Given the description of an element on the screen output the (x, y) to click on. 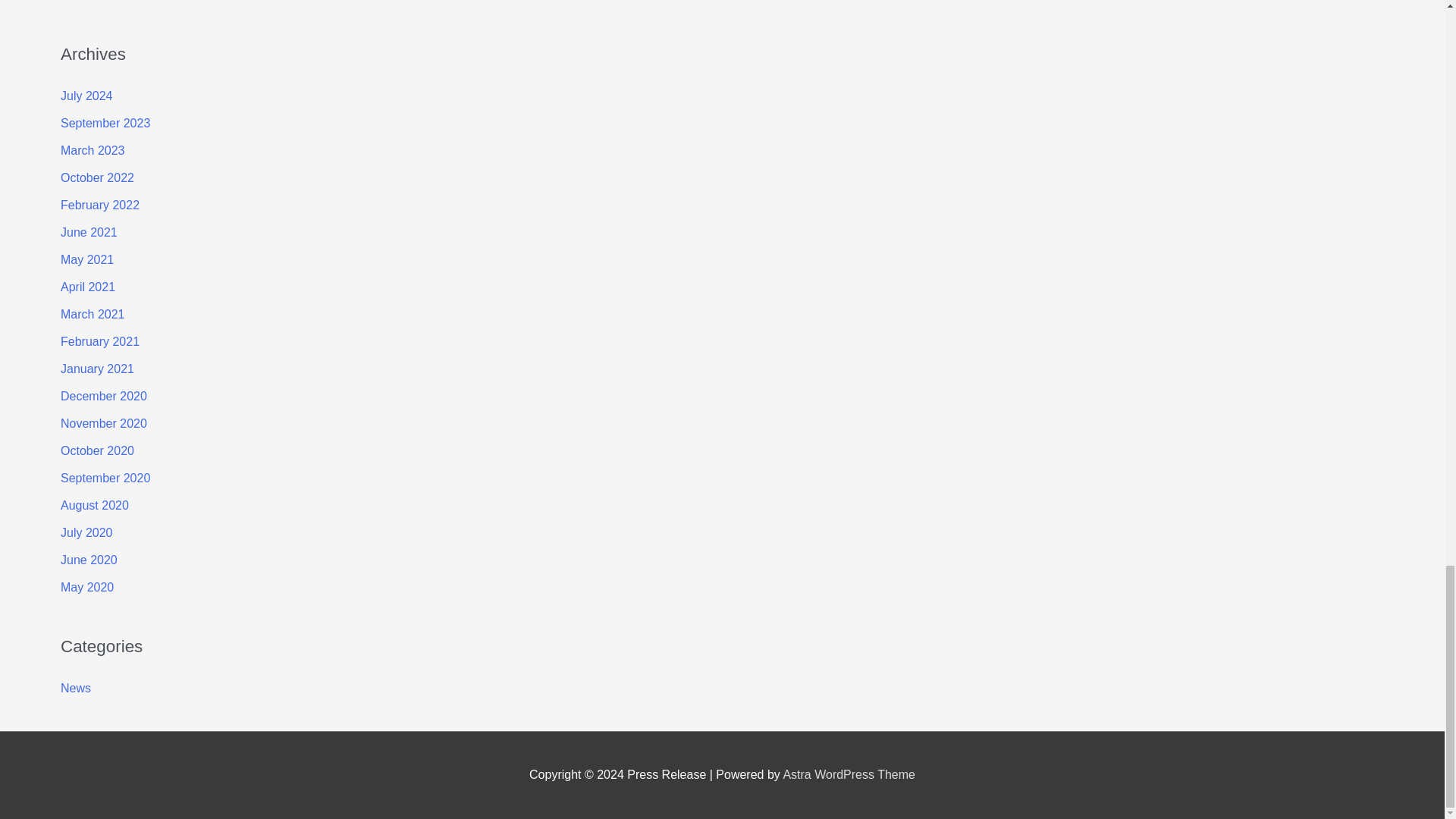
March 2023 (93, 150)
September 2023 (105, 123)
December 2020 (104, 395)
May 2021 (87, 259)
April 2021 (88, 286)
July 2024 (87, 95)
March 2021 (93, 314)
January 2021 (97, 368)
October 2022 (97, 177)
February 2021 (100, 341)
June 2021 (89, 232)
February 2022 (100, 205)
